Given the description of an element on the screen output the (x, y) to click on. 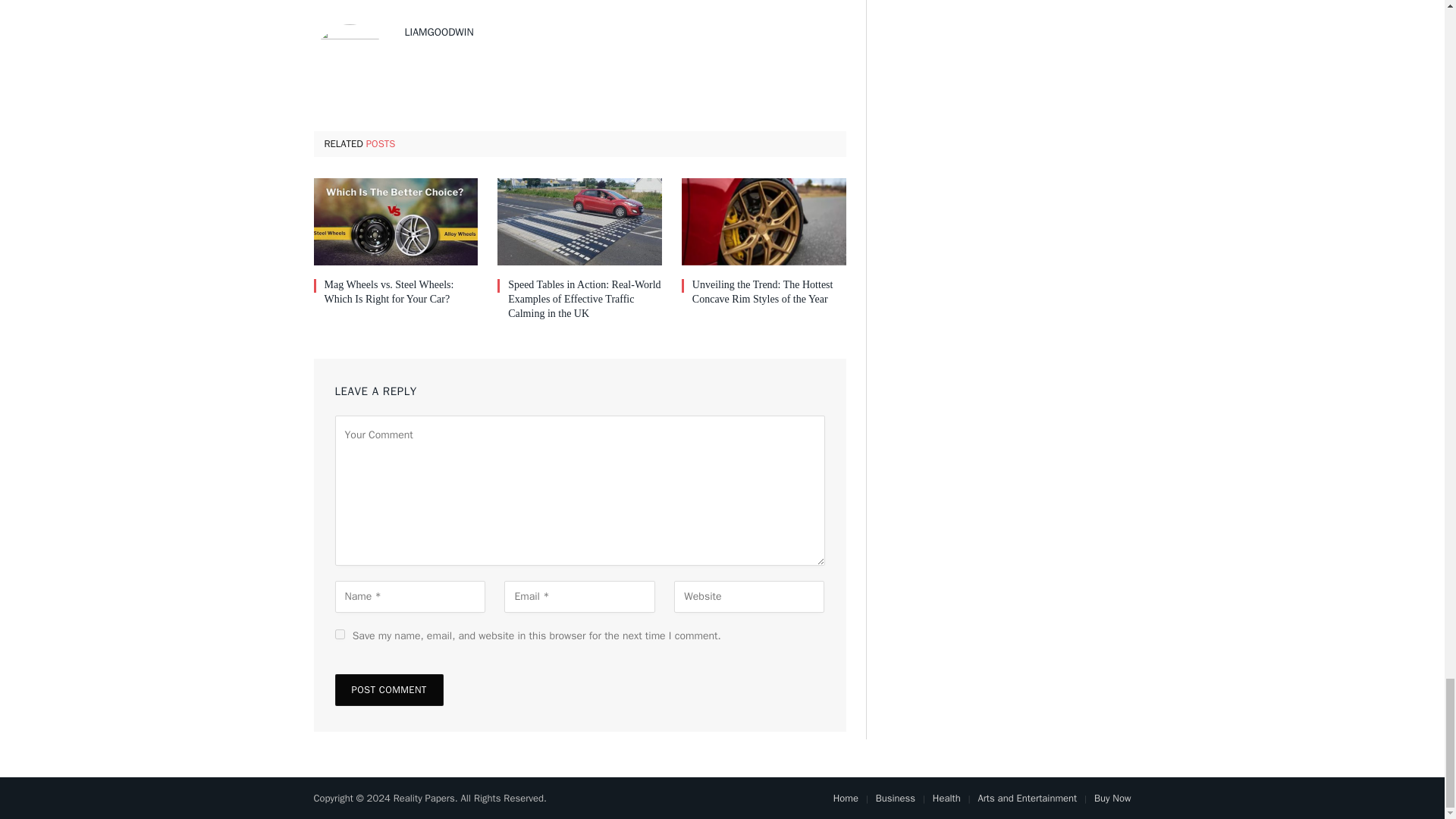
Post Comment (389, 689)
yes (339, 634)
